Given the description of an element on the screen output the (x, y) to click on. 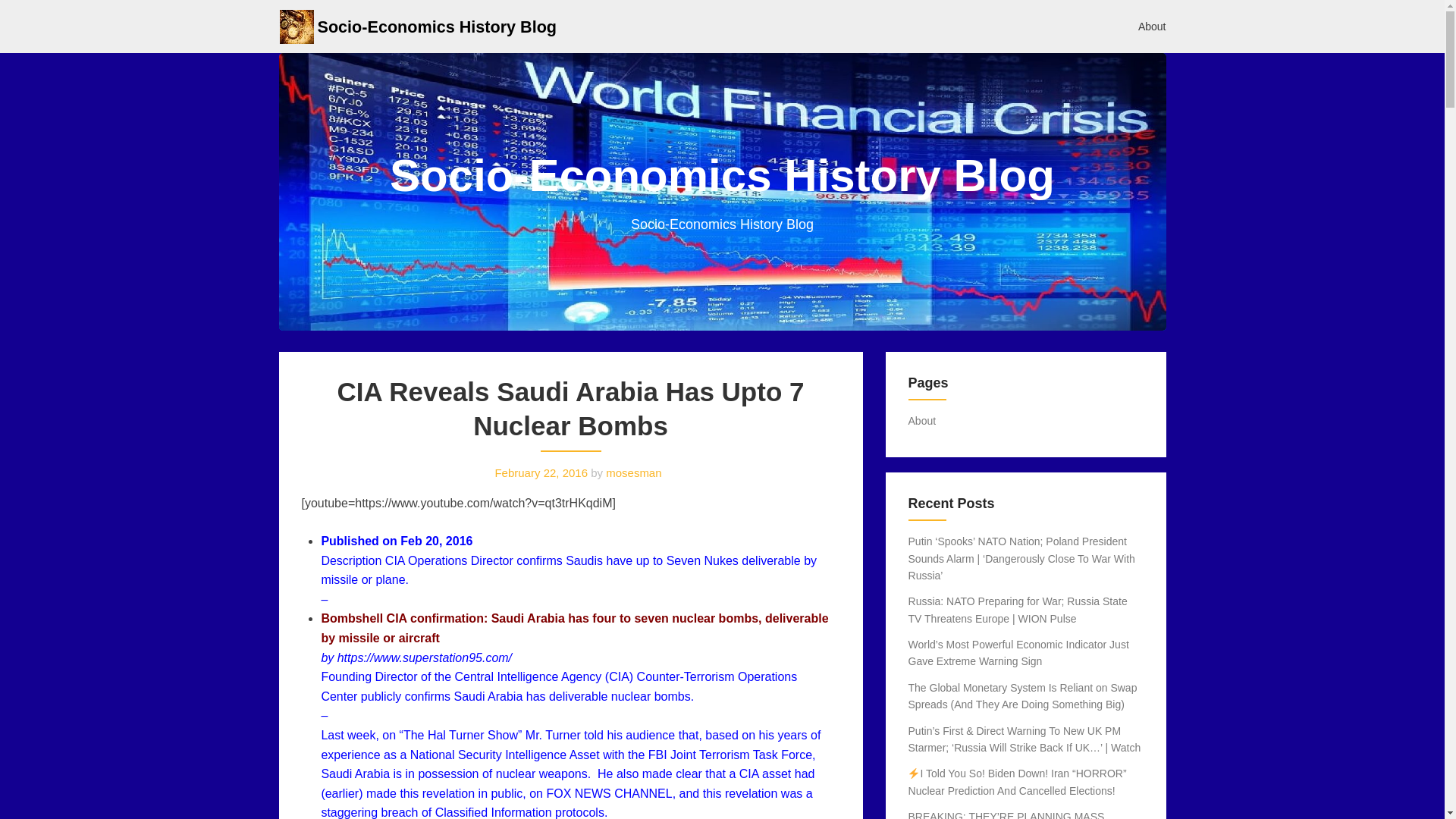
February 22, 2016 (541, 472)
About (1151, 26)
About (922, 420)
Socio-Economics History Blog (436, 26)
